Given the description of an element on the screen output the (x, y) to click on. 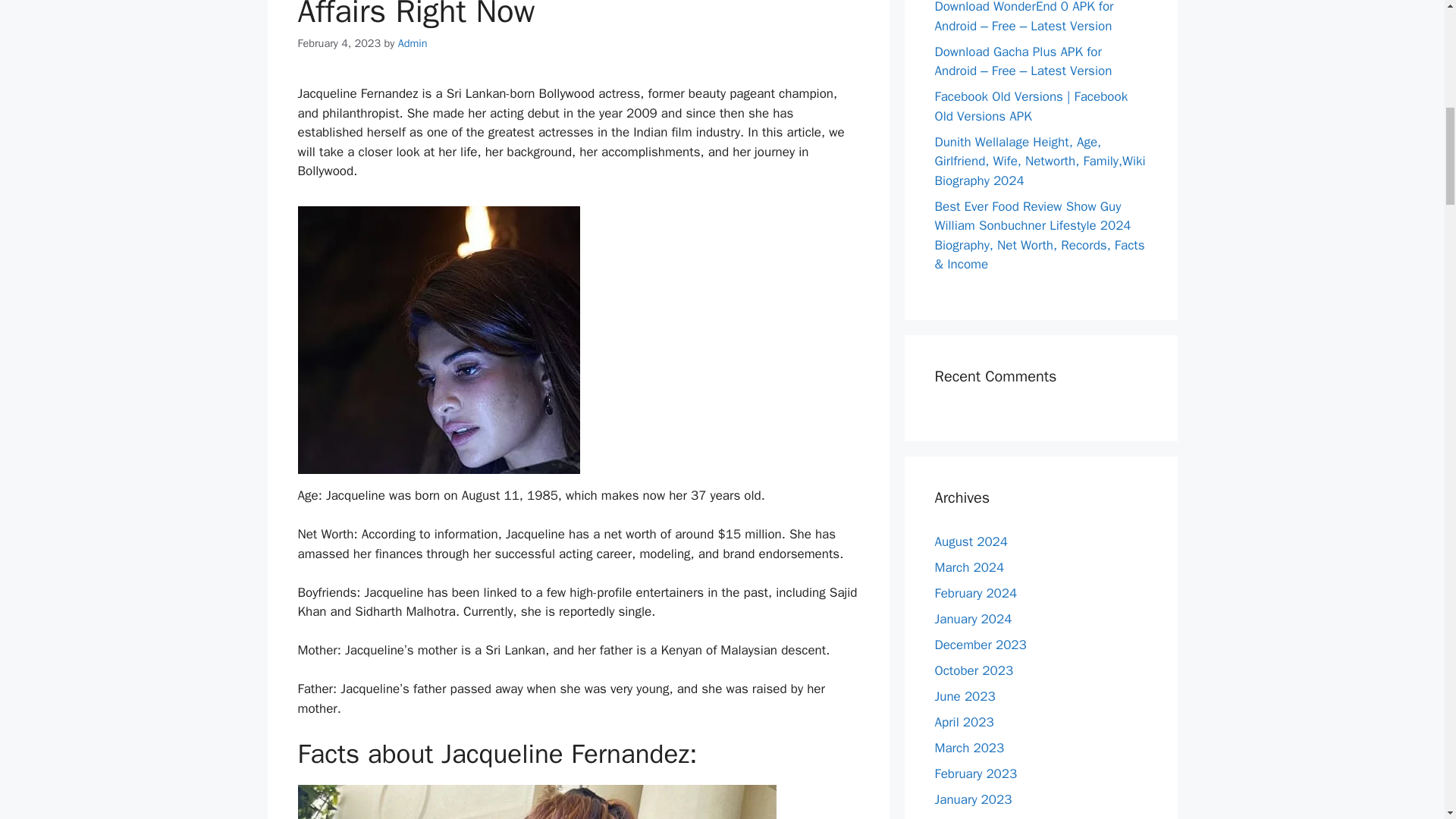
February 2024 (975, 593)
March 2024 (969, 567)
Admin (412, 42)
View all posts by Admin (412, 42)
December 2023 (980, 644)
January 2024 (972, 618)
August 2024 (970, 541)
October 2023 (973, 670)
